Given the description of an element on the screen output the (x, y) to click on. 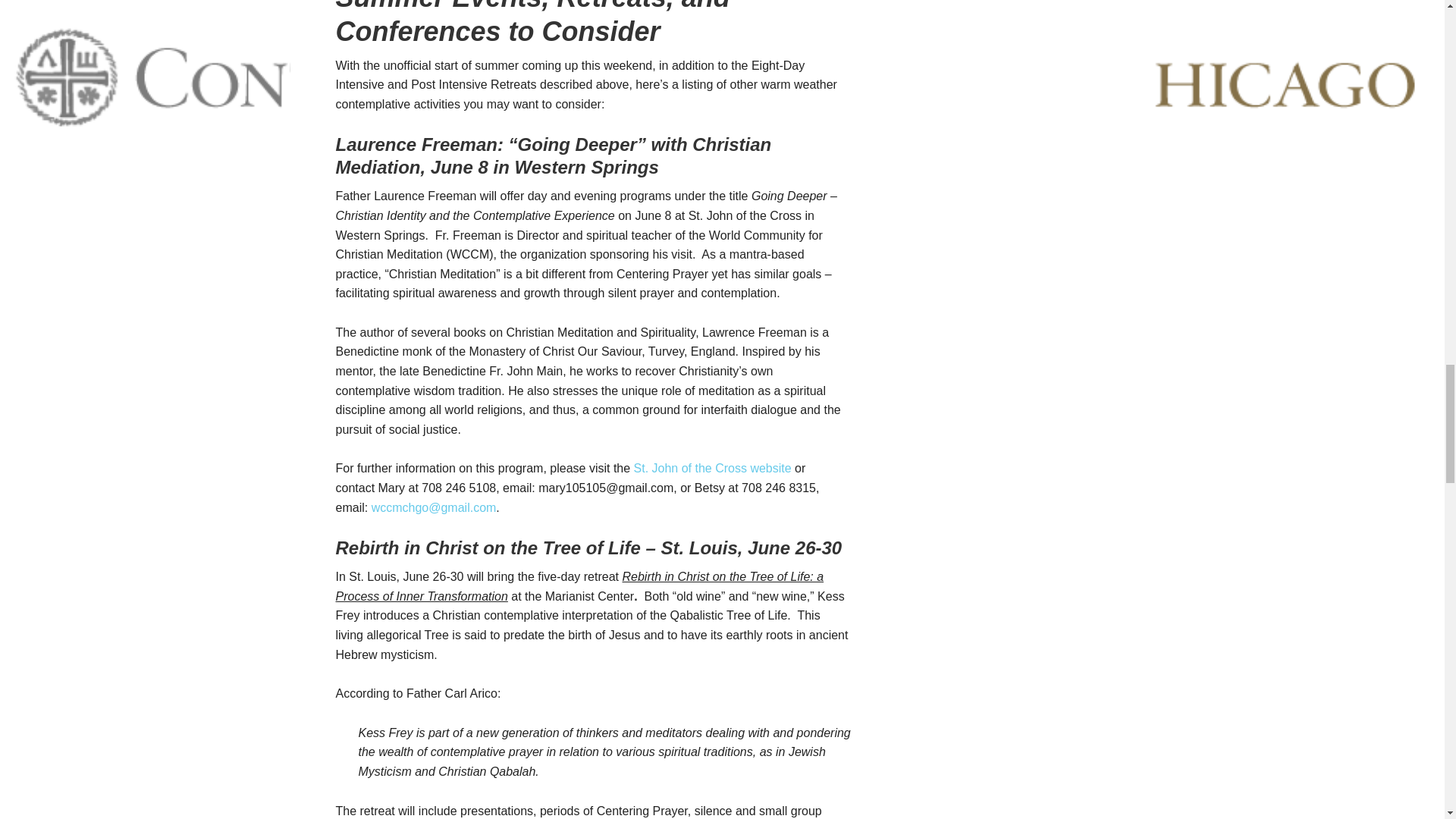
St. John of the Cross website (712, 468)
